Given the description of an element on the screen output the (x, y) to click on. 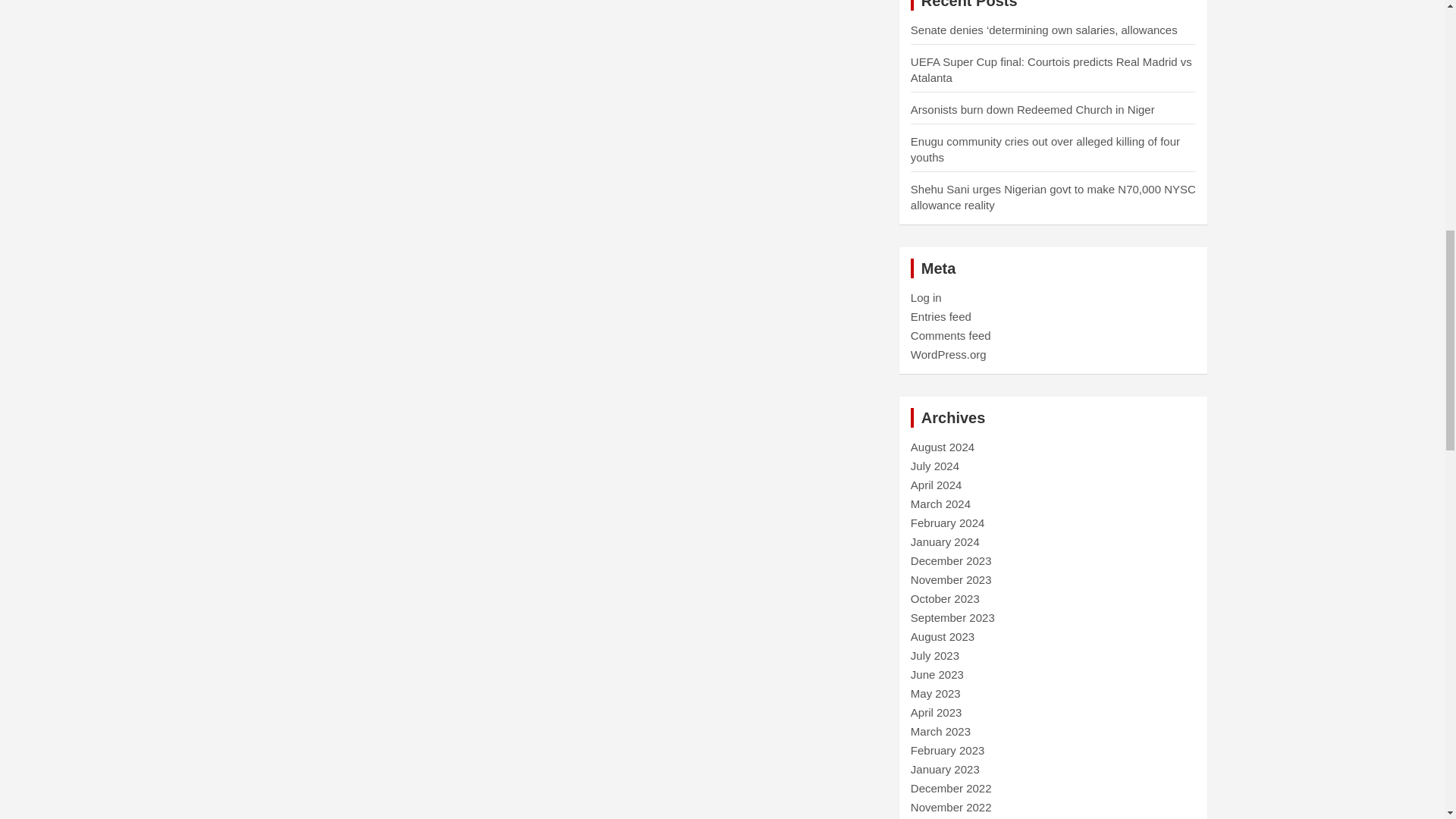
Entries feed (941, 316)
Log in (926, 297)
Arsonists burn down Redeemed Church in Niger (1032, 109)
